Given the description of an element on the screen output the (x, y) to click on. 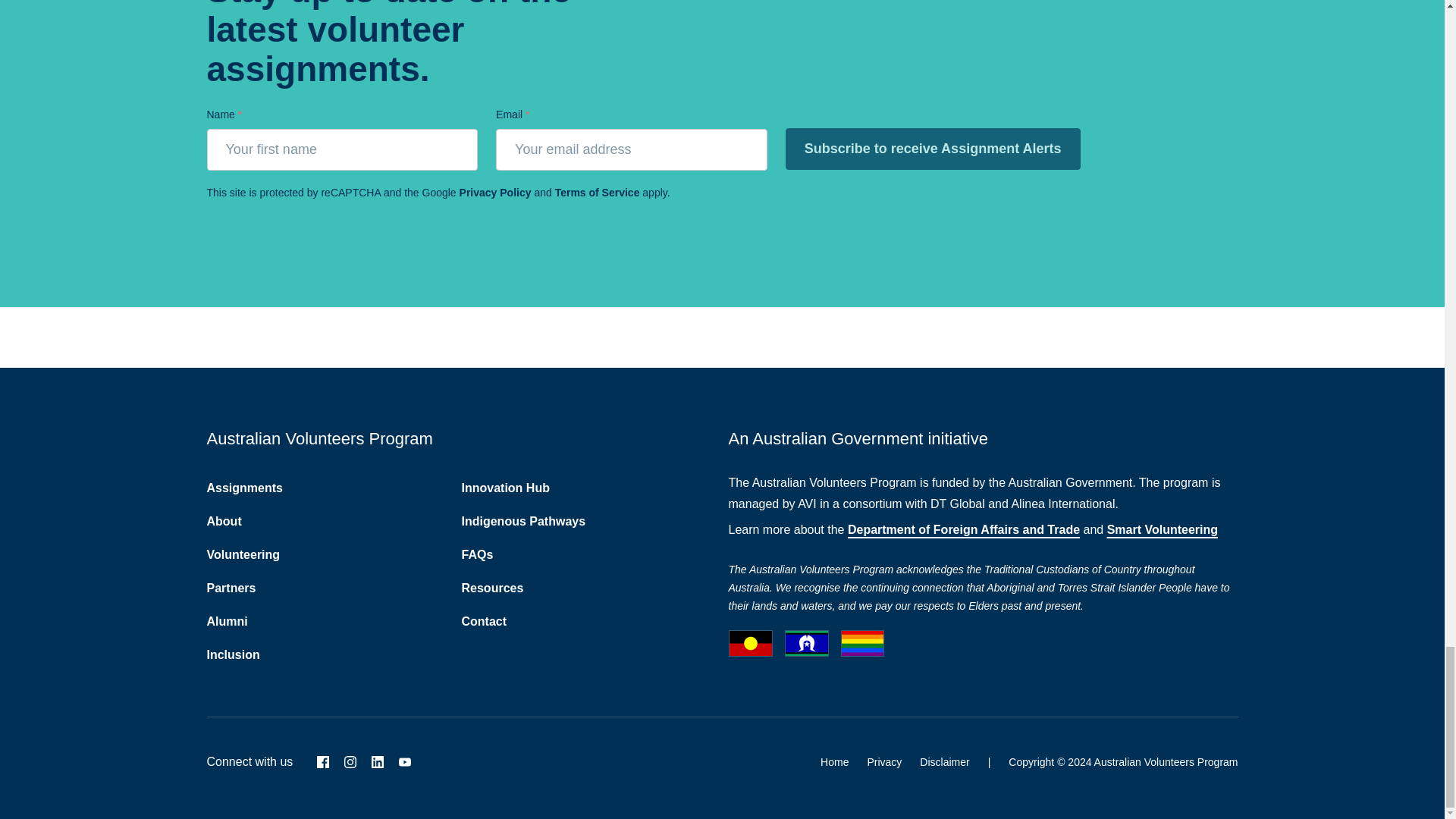
Terms of Service (597, 192)
Resources (491, 587)
Smart Volunteering (1161, 529)
Partners (231, 587)
Contact (483, 621)
Volunteering (242, 554)
Assignments (244, 487)
Alumni (226, 621)
Department of Foreign Affairs and Trade (963, 529)
Inclusion (232, 654)
About (223, 521)
Subscribe to receive Assignment Alerts (933, 148)
Indigenous Pathways (523, 521)
FAQs (477, 554)
Innovation Hub (504, 487)
